Given the description of an element on the screen output the (x, y) to click on. 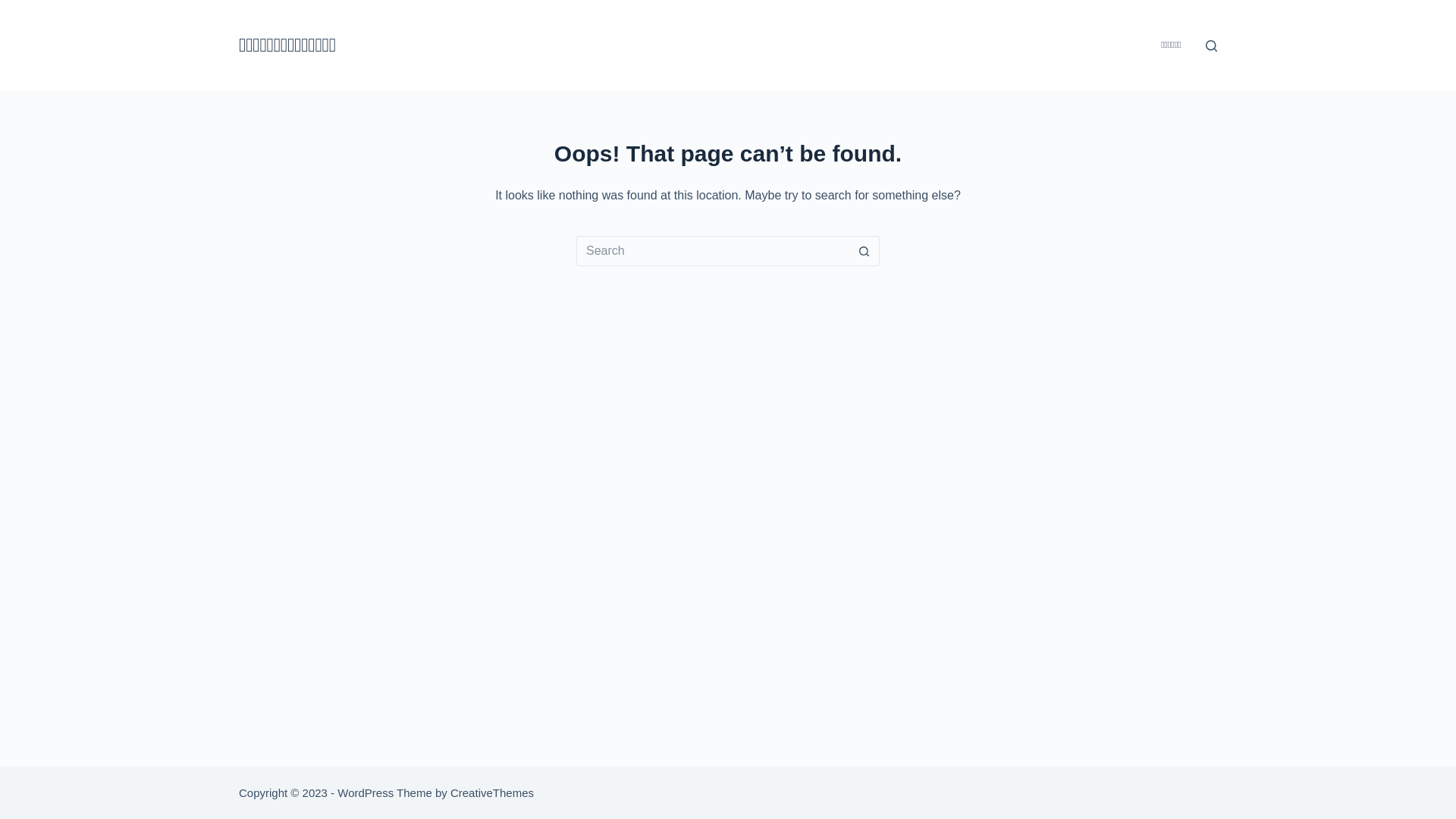
Search for... Element type: hover (712, 250)
CreativeThemes Element type: text (491, 791)
Skip to content Element type: text (15, 7)
